Given the description of an element on the screen output the (x, y) to click on. 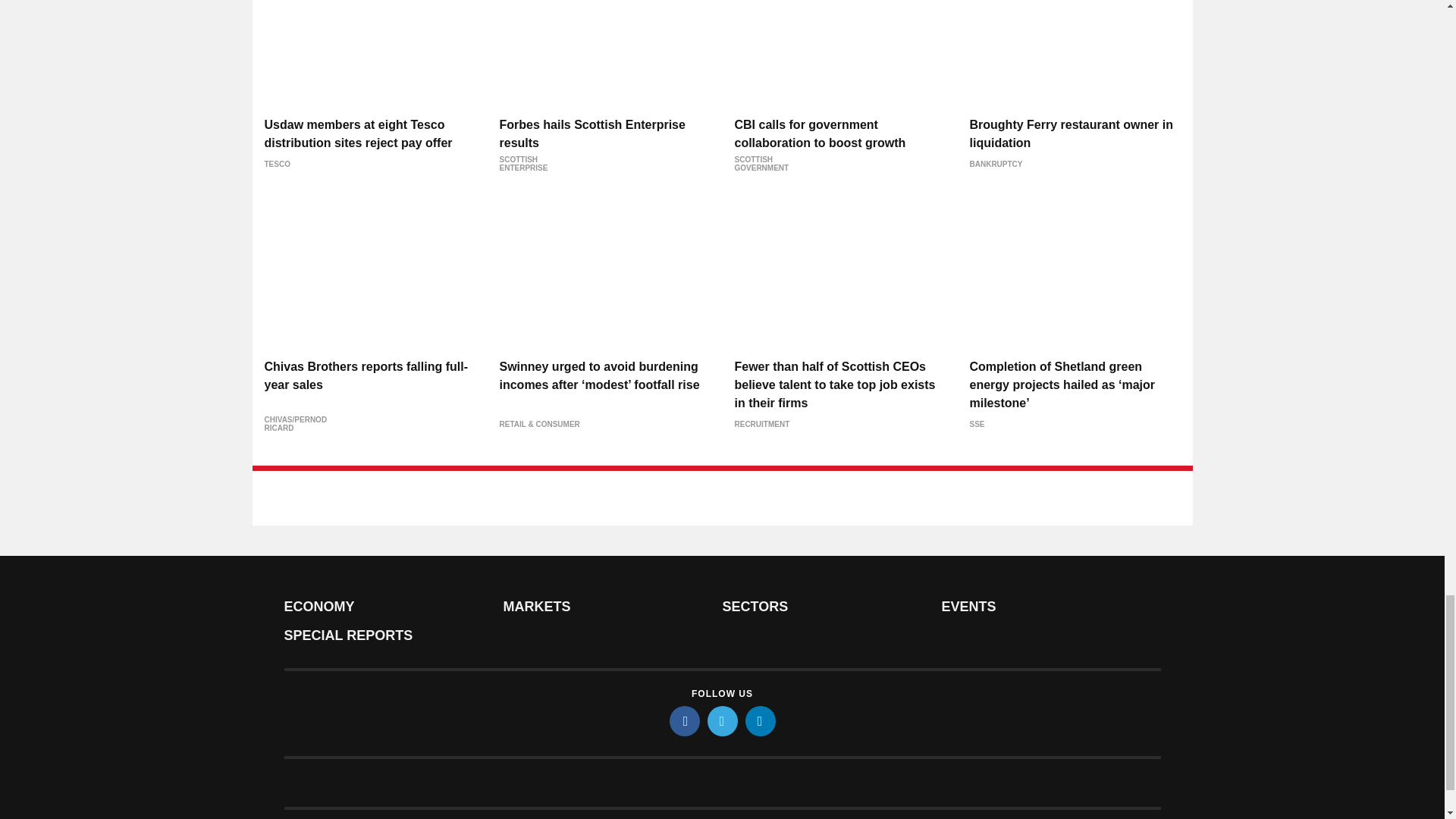
twitter (721, 720)
linkedin (759, 720)
facebook (683, 720)
